Given the description of an element on the screen output the (x, y) to click on. 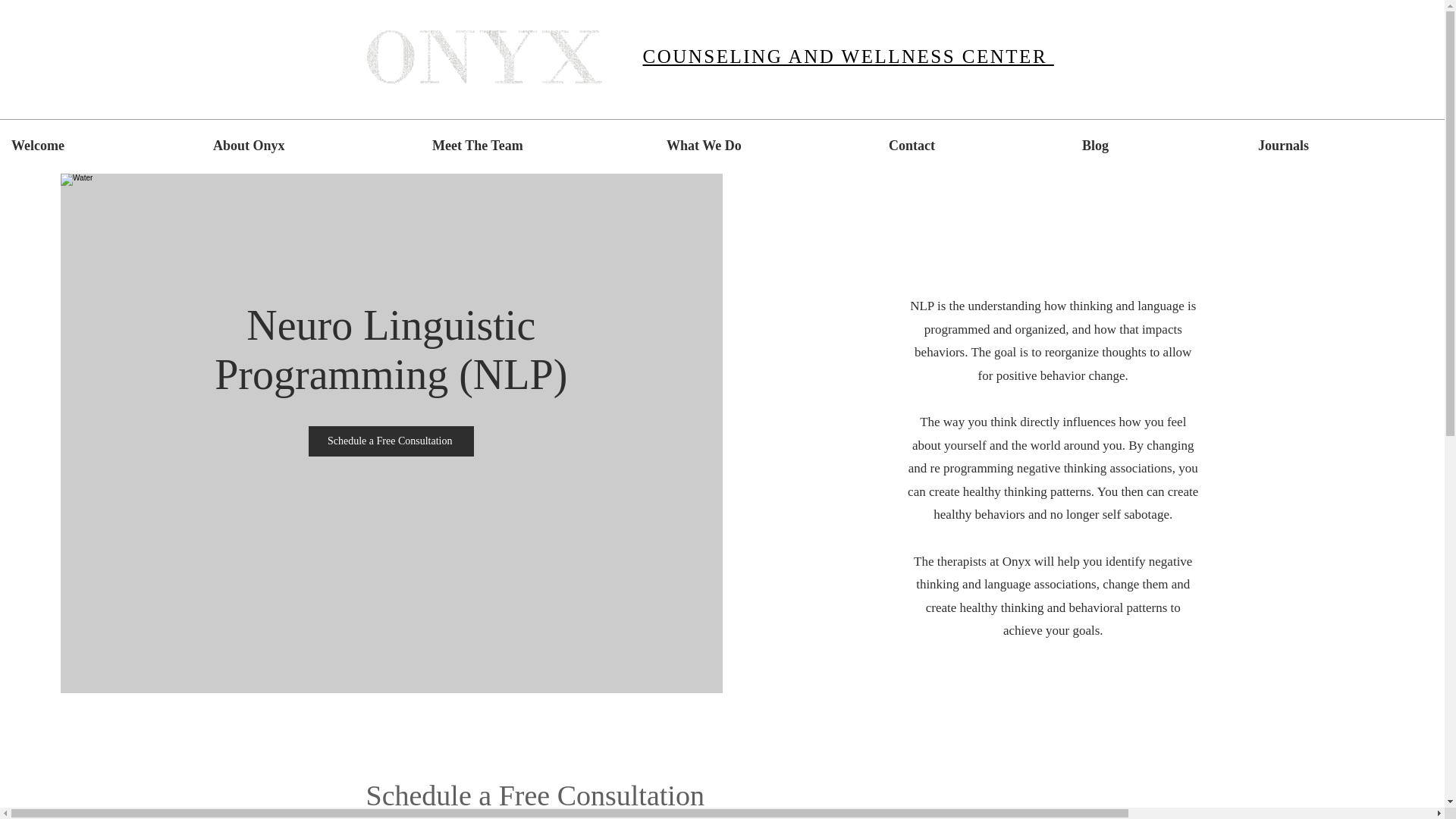
COUNSELING AND WELLNESS CENTER  (848, 55)
About Onyx (311, 145)
Blog (1158, 145)
Welcome (101, 145)
Schedule a Free Consultation (391, 440)
Contact (973, 145)
Meet The Team (537, 145)
Journals (1345, 145)
